Given the description of an element on the screen output the (x, y) to click on. 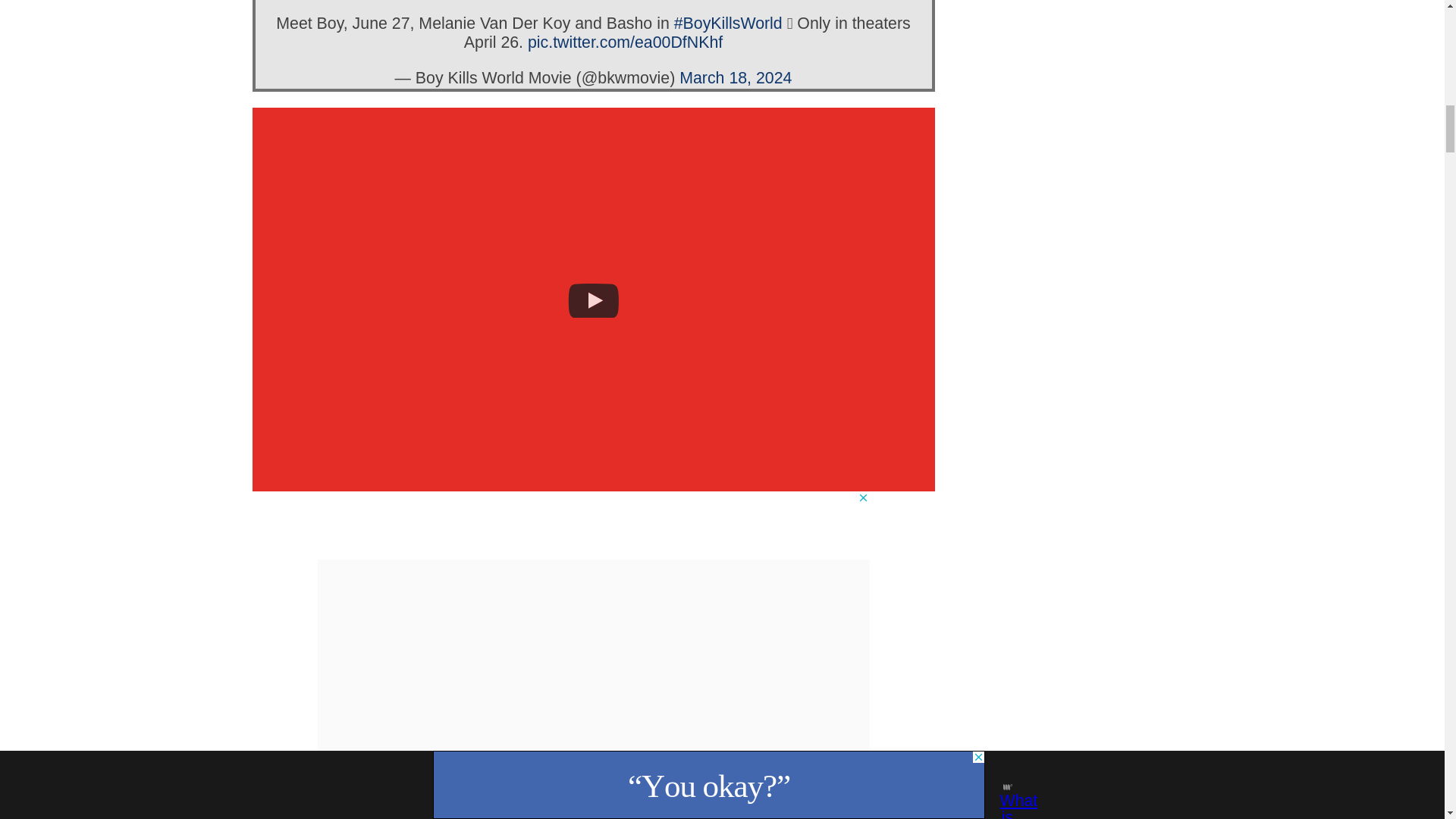
3rd party ad content (593, 525)
